Given the description of an element on the screen output the (x, y) to click on. 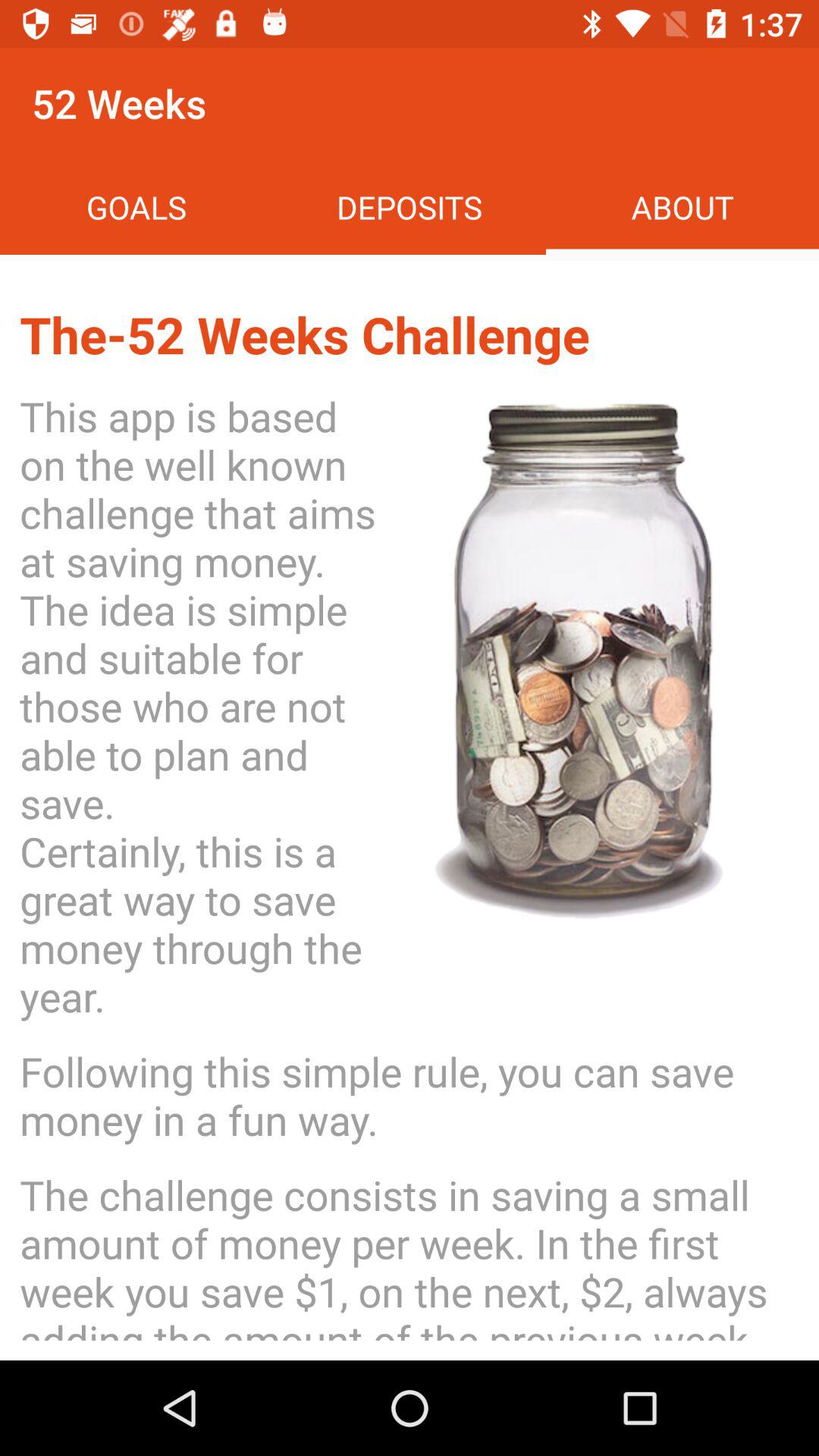
press the icon above the 52 weeks icon (409, 206)
